Given the description of an element on the screen output the (x, y) to click on. 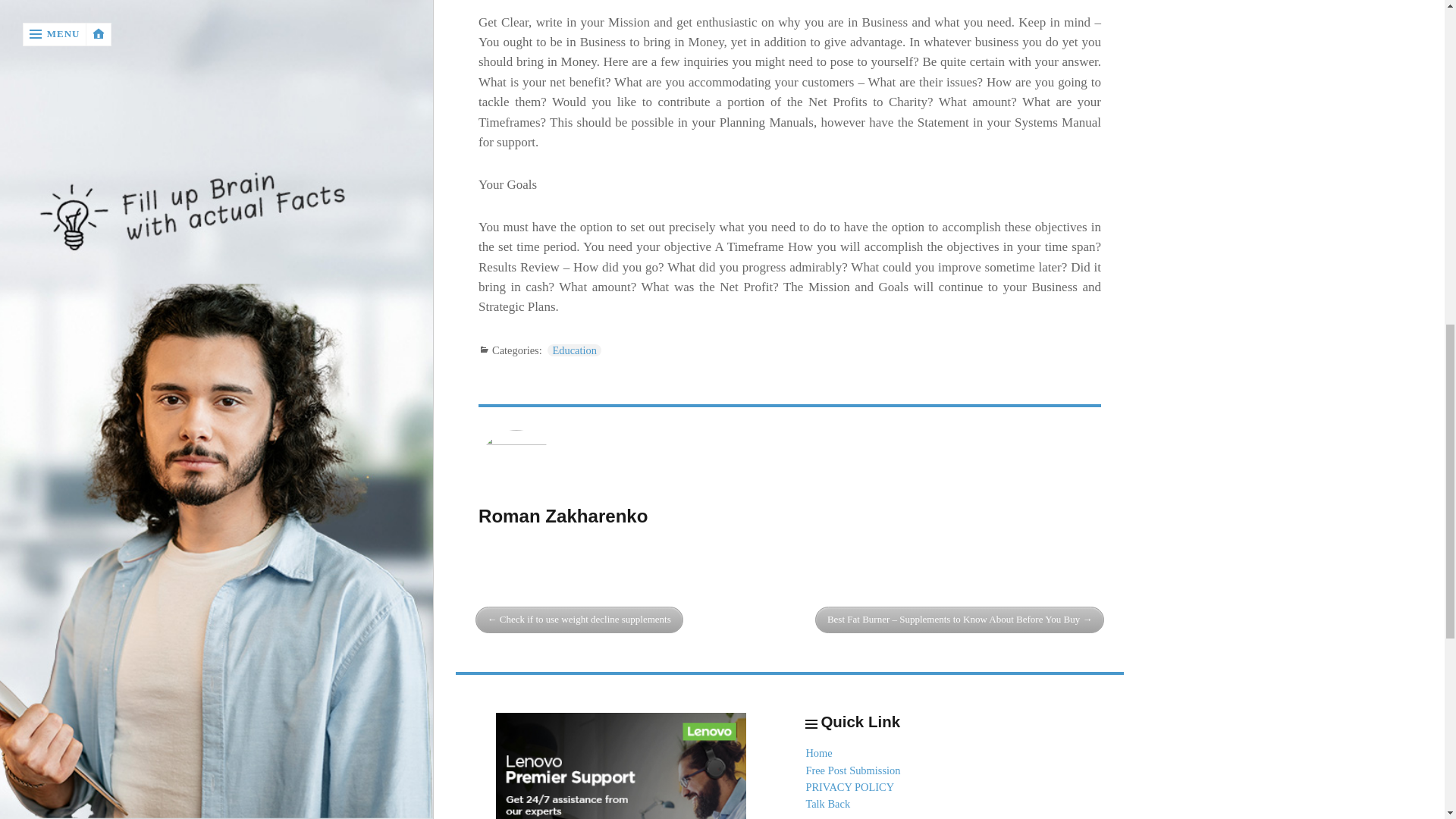
PRIVACY POLICY (849, 787)
Talk Back (827, 803)
Free Post Submission (852, 770)
Home (818, 752)
Check if to use weight decline supplements (579, 619)
Education (574, 349)
